Given the description of an element on the screen output the (x, y) to click on. 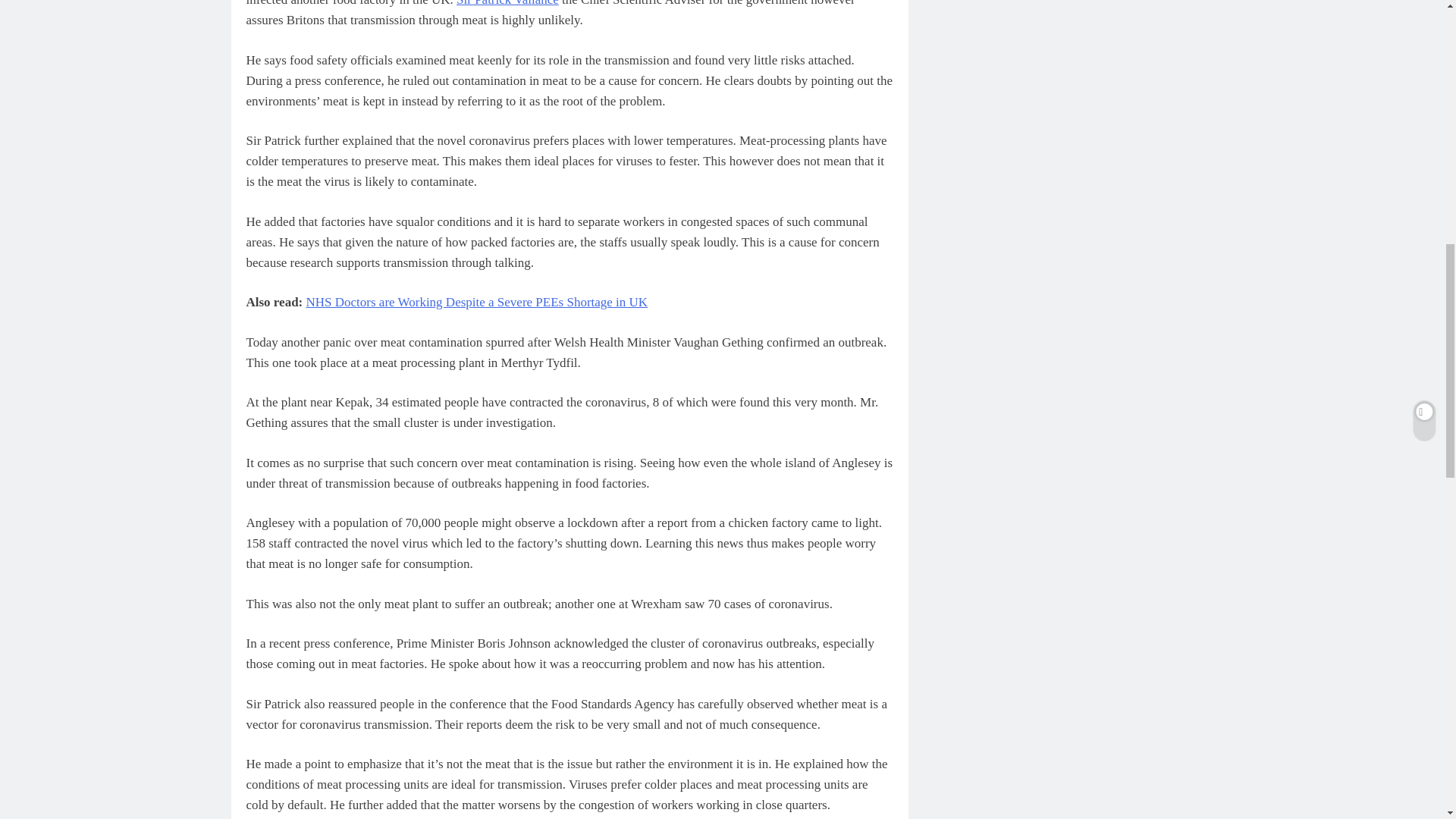
NHS Doctors are Working Despite a Severe PEEs Shortage in UK (476, 301)
Sir Patrick Vallance (508, 3)
